Given the description of an element on the screen output the (x, y) to click on. 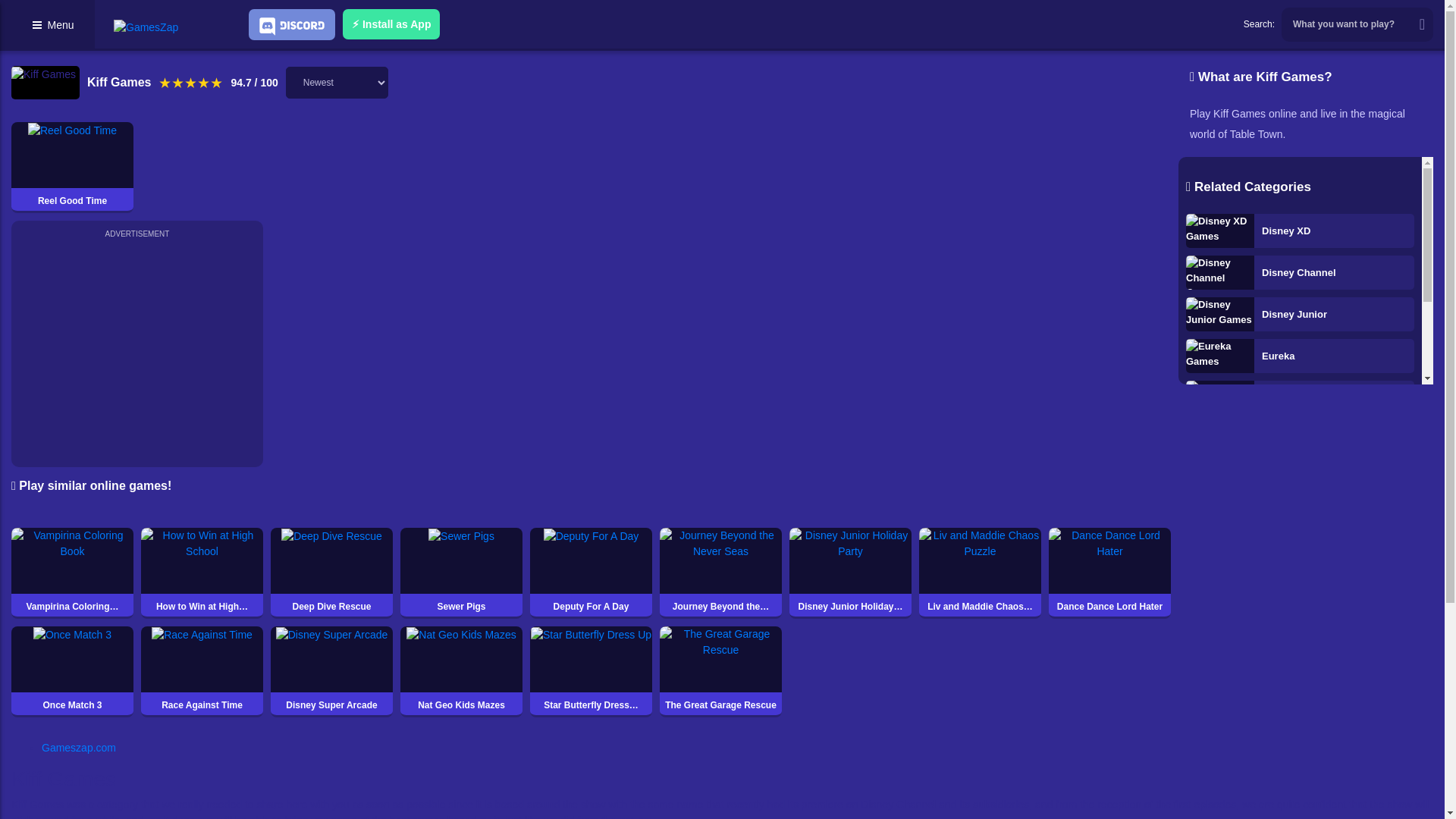
Install as App (390, 24)
Join our Discord (291, 24)
Race Against Time (202, 671)
GamesZap (145, 26)
Reel Good Time (72, 167)
Disney Super Arcade (331, 671)
Once Match 3 (72, 671)
Dance Dance Lord Hater (1109, 573)
Sewer Pigs (461, 573)
Deep Dive Rescue (331, 573)
